Given the description of an element on the screen output the (x, y) to click on. 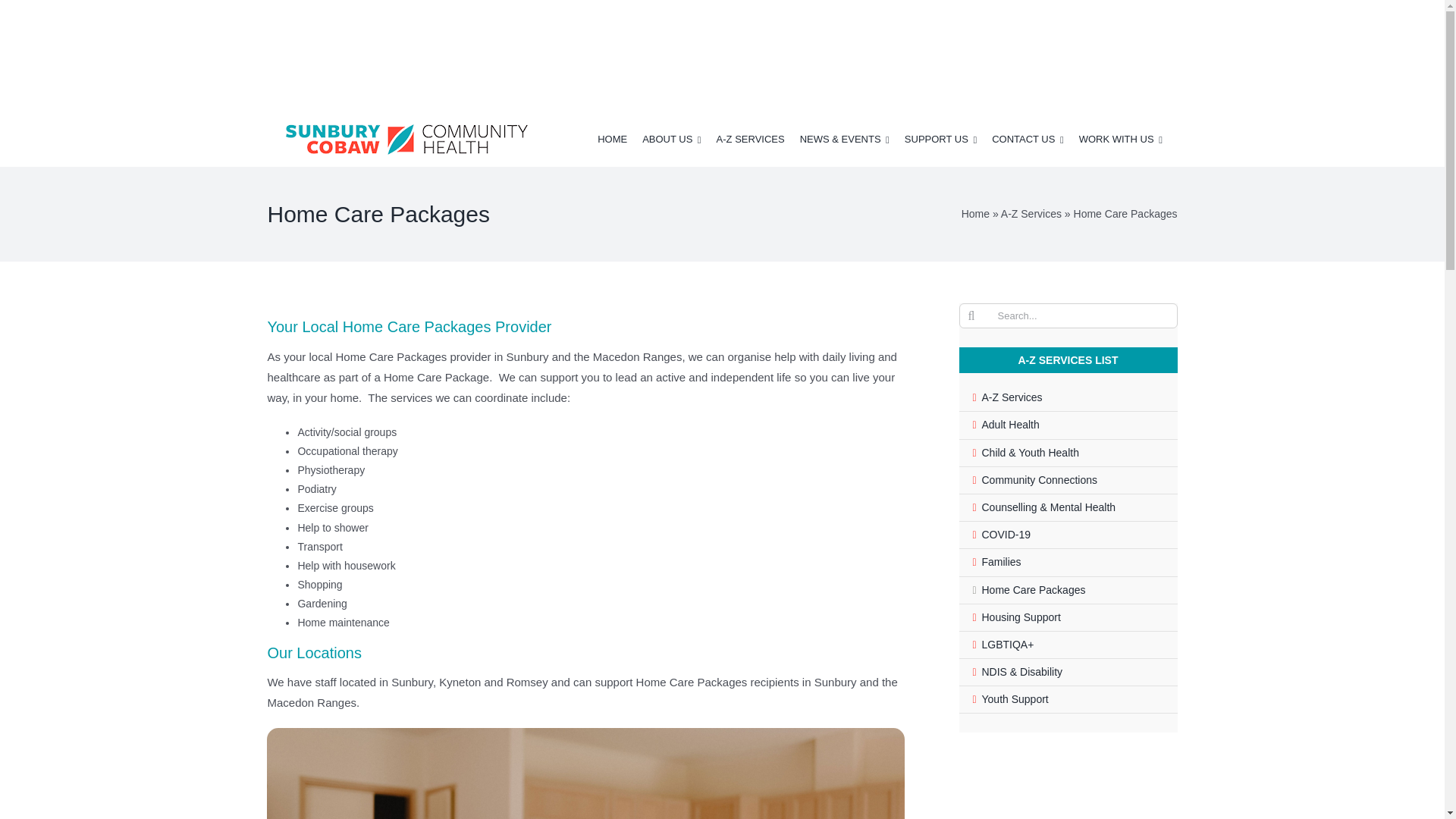
SUPPORT US (940, 138)
CONTACT US (1027, 138)
A-Z SERVICES (750, 138)
ABOUT US (671, 138)
